Given the description of an element on the screen output the (x, y) to click on. 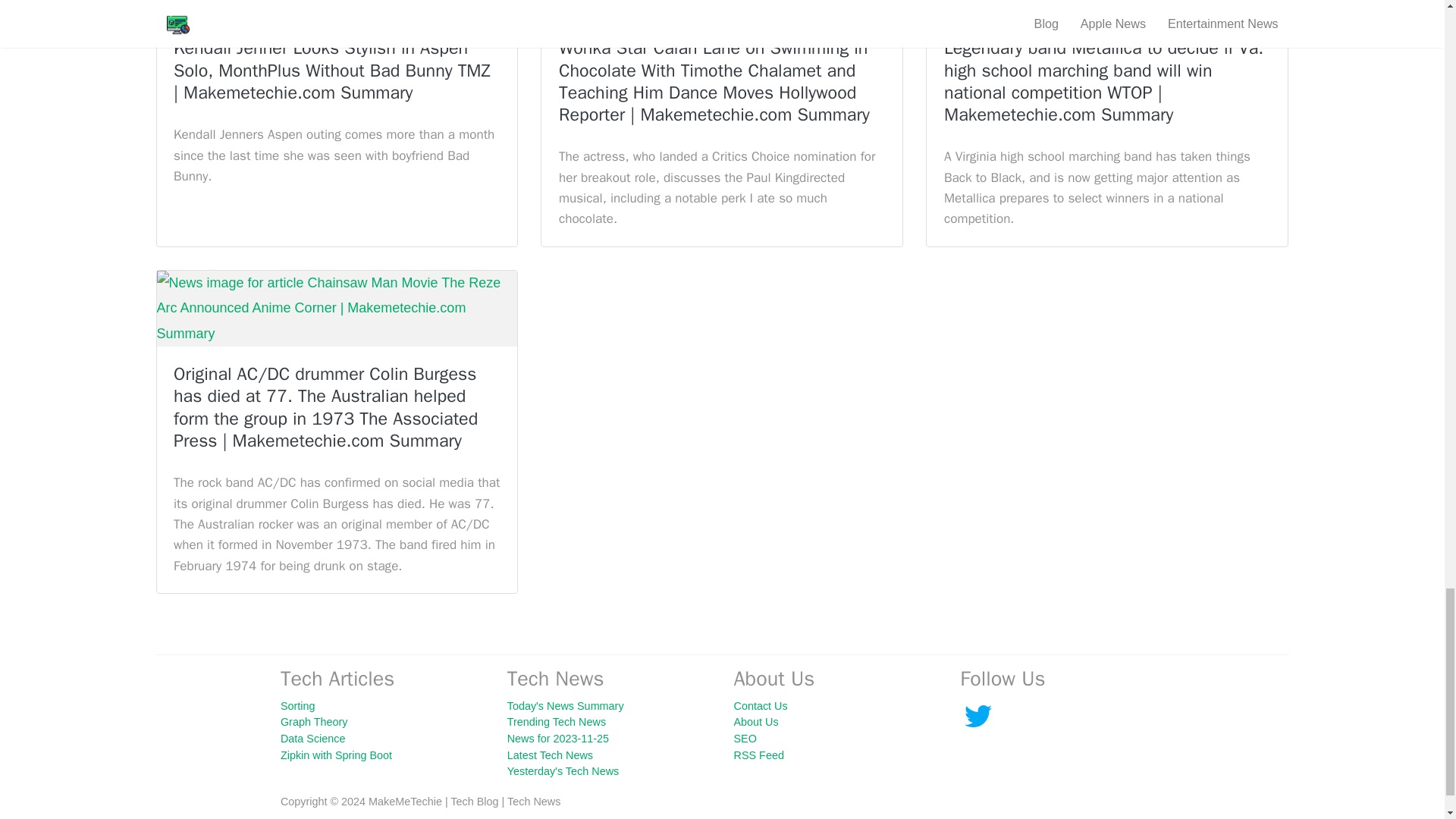
Sorting (298, 705)
Zipkin with Spring Boot (336, 755)
Facebook (977, 715)
Data Science (313, 738)
Graph Theory (314, 721)
